Given the description of an element on the screen output the (x, y) to click on. 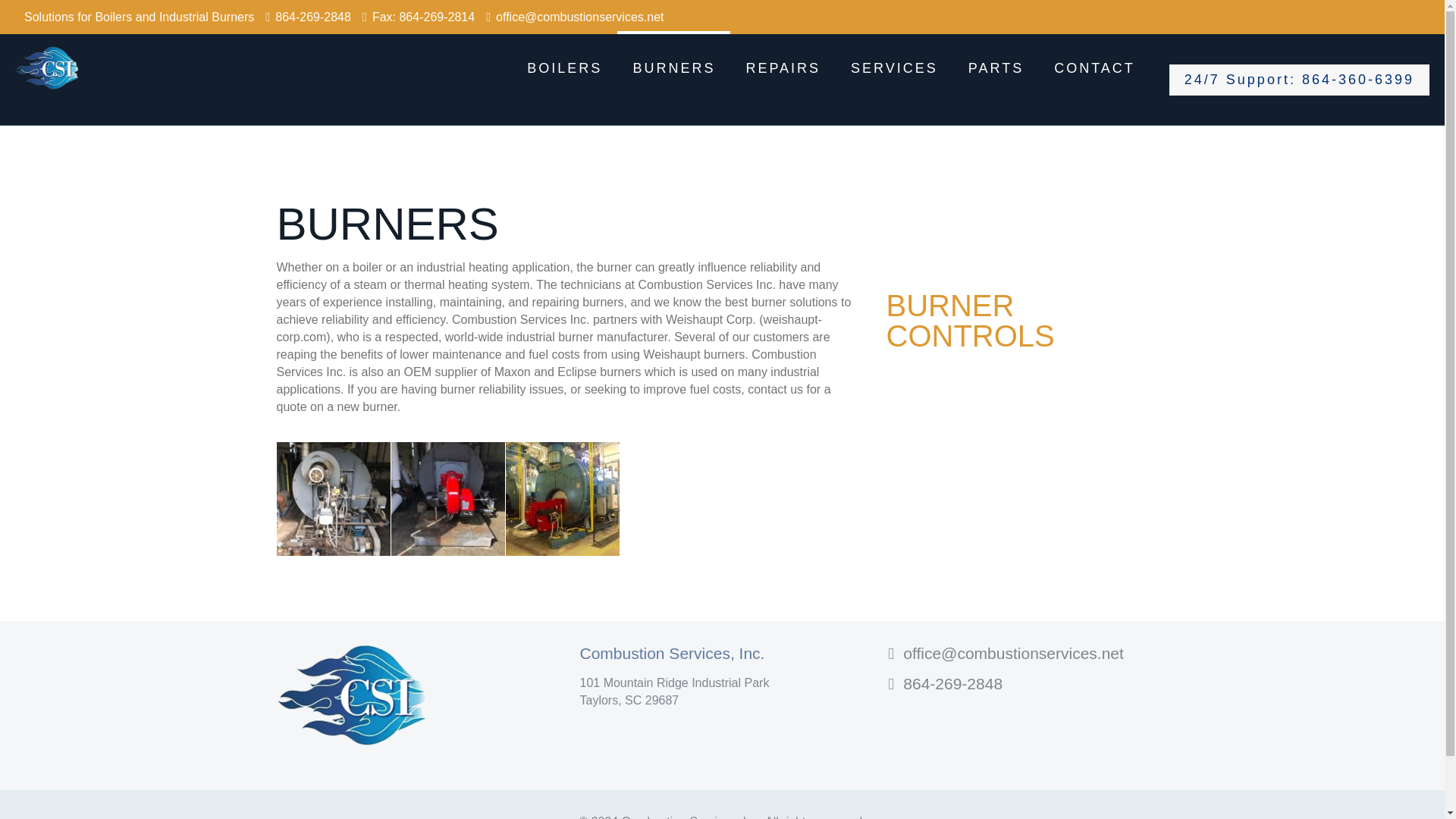
burner-2 (448, 499)
SERVICES (894, 68)
burner-1 (333, 499)
Combustion Services, Inc. (47, 68)
PARTS (996, 68)
BURNERS (673, 68)
BURNER CONTROLS (969, 320)
CONTACT (1094, 68)
Fax: 864-269-2814 (423, 16)
864-269-2848 (312, 16)
